Given the description of an element on the screen output the (x, y) to click on. 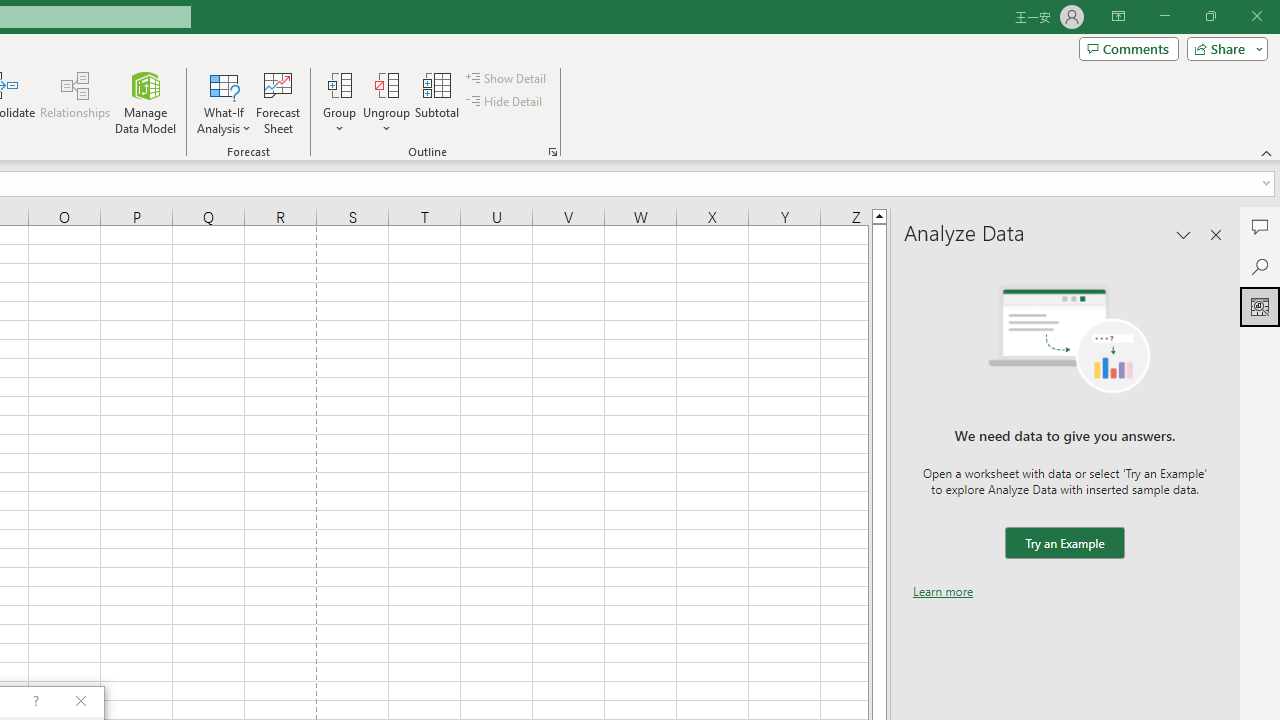
Show Detail (507, 78)
Comments (1260, 226)
Comments (1128, 48)
Learn more (943, 591)
Subtotal (437, 102)
Ungroup... (386, 84)
Analyze Data (1260, 306)
Collapse the Ribbon (1267, 152)
Group and Outline Settings (552, 151)
Hide Detail (505, 101)
Relationships (75, 102)
We need data to give you answers. Try an Example (1064, 543)
